Given the description of an element on the screen output the (x, y) to click on. 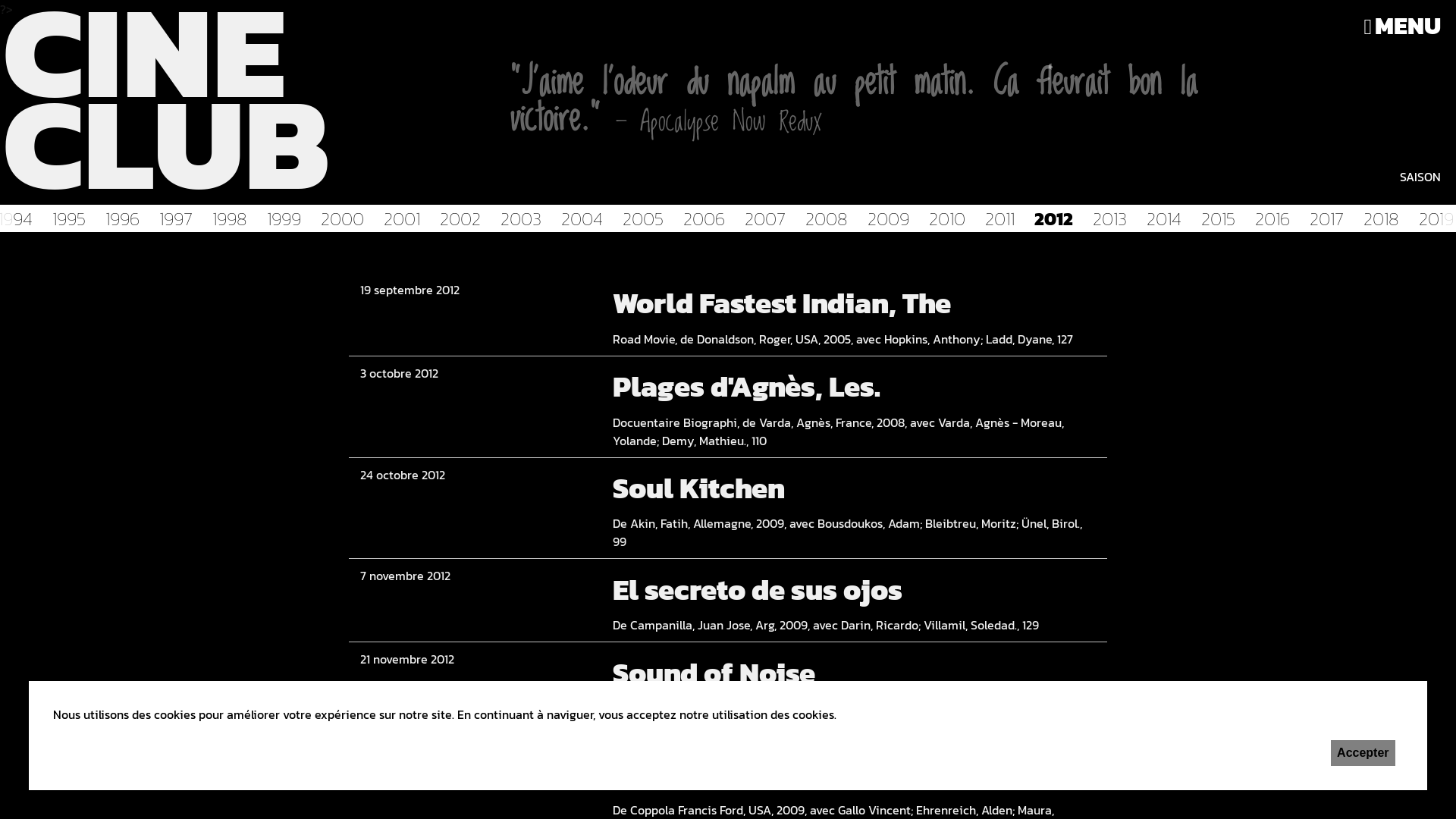
2006 Element type: text (707, 218)
2013 Element type: text (1113, 218)
2001 Element type: text (405, 218)
2014 Element type: text (1167, 218)
2000 Element type: text (345, 218)
MENU Element type: text (1401, 25)
Accepter Element type: text (1362, 752)
2015 Element type: text (1221, 218)
1999 Element type: text (287, 218)
2009 Element type: text (891, 218)
2003 Element type: text (524, 218)
2008 Element type: text (830, 218)
2017 Element type: text (1330, 218)
2010 Element type: text (950, 218)
2011 Element type: text (1003, 218)
2016 Element type: text (1276, 218)
2012 Element type: text (1057, 218)
2002 Element type: text (463, 218)
1995 Element type: text (72, 218)
2005 Element type: text (646, 218)
2007 Element type: text (768, 218)
2004 Element type: text (585, 218)
1998 Element type: text (233, 218)
2018 Element type: text (1384, 218)
1997 Element type: text (179, 218)
1996 Element type: text (126, 218)
